Given the description of an element on the screen output the (x, y) to click on. 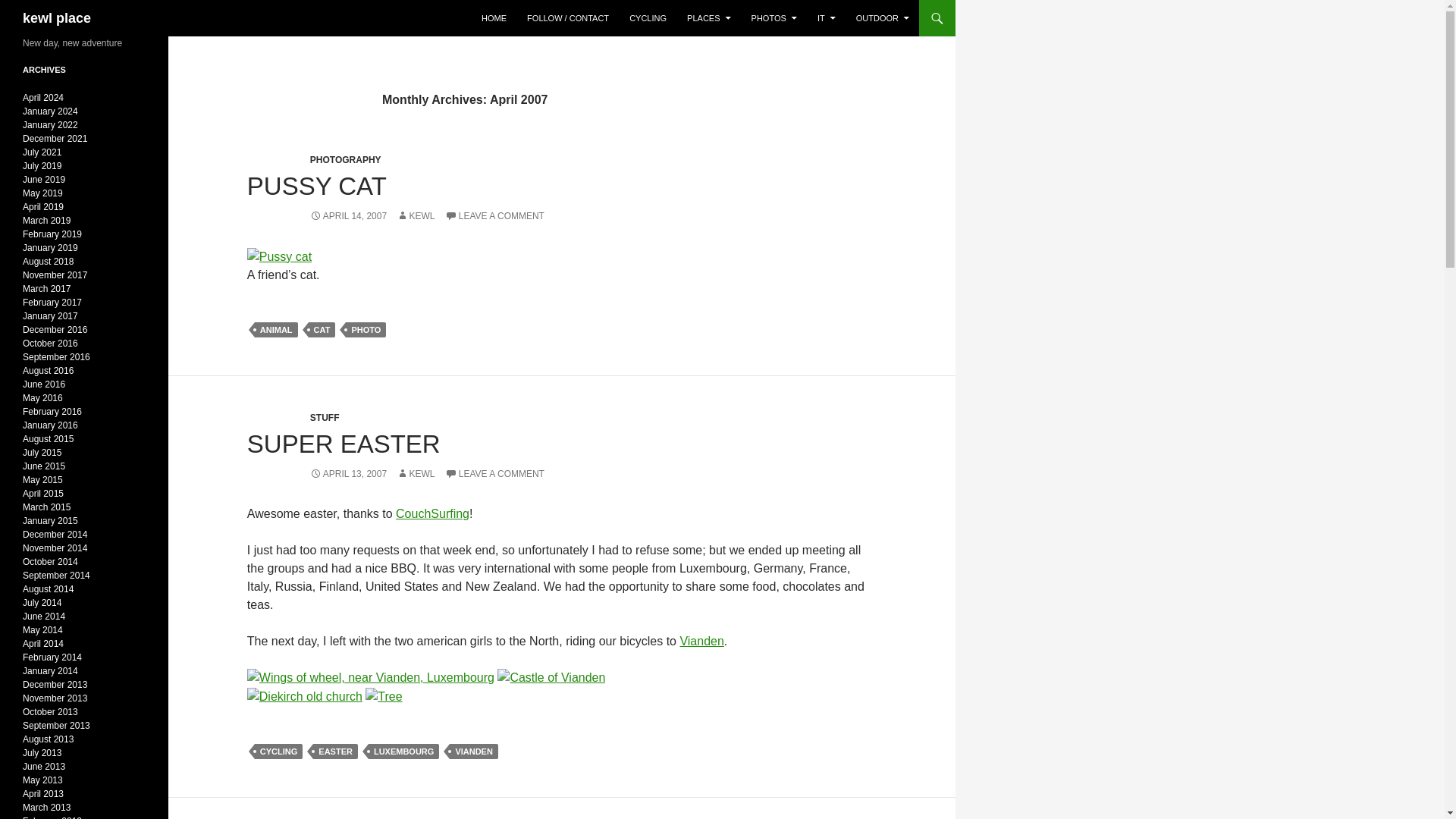
kewl place (56, 18)
Castle of Vianden (551, 678)
PHOTOS (774, 18)
Diekirch old church (304, 696)
Pussy cat by kewl, on Flickr (279, 255)
CYCLING (647, 18)
IT (826, 18)
PLACES (708, 18)
Tree (383, 696)
Wings of wheel, near Vianden, Luxembourg (371, 678)
HOME (493, 18)
